Given the description of an element on the screen output the (x, y) to click on. 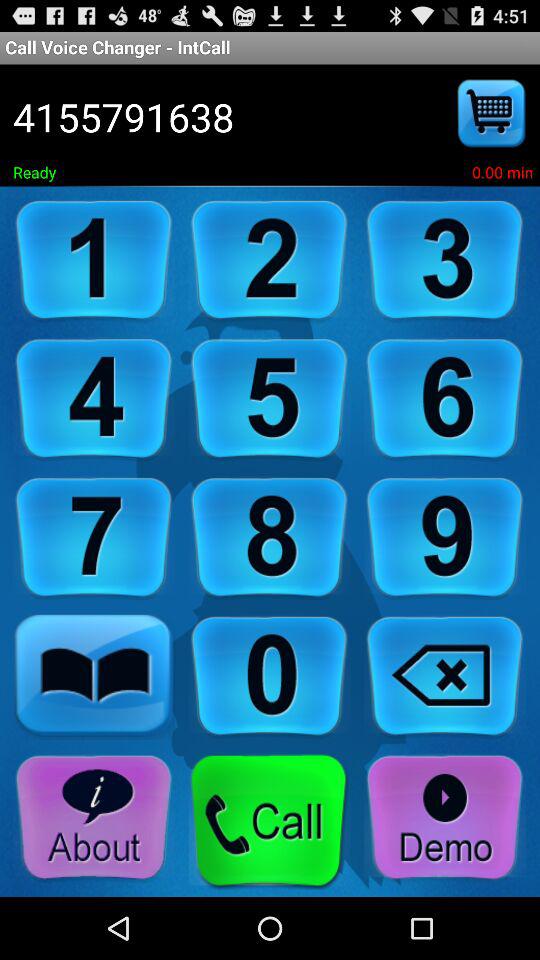
select number 8 (269, 538)
